Given the description of an element on the screen output the (x, y) to click on. 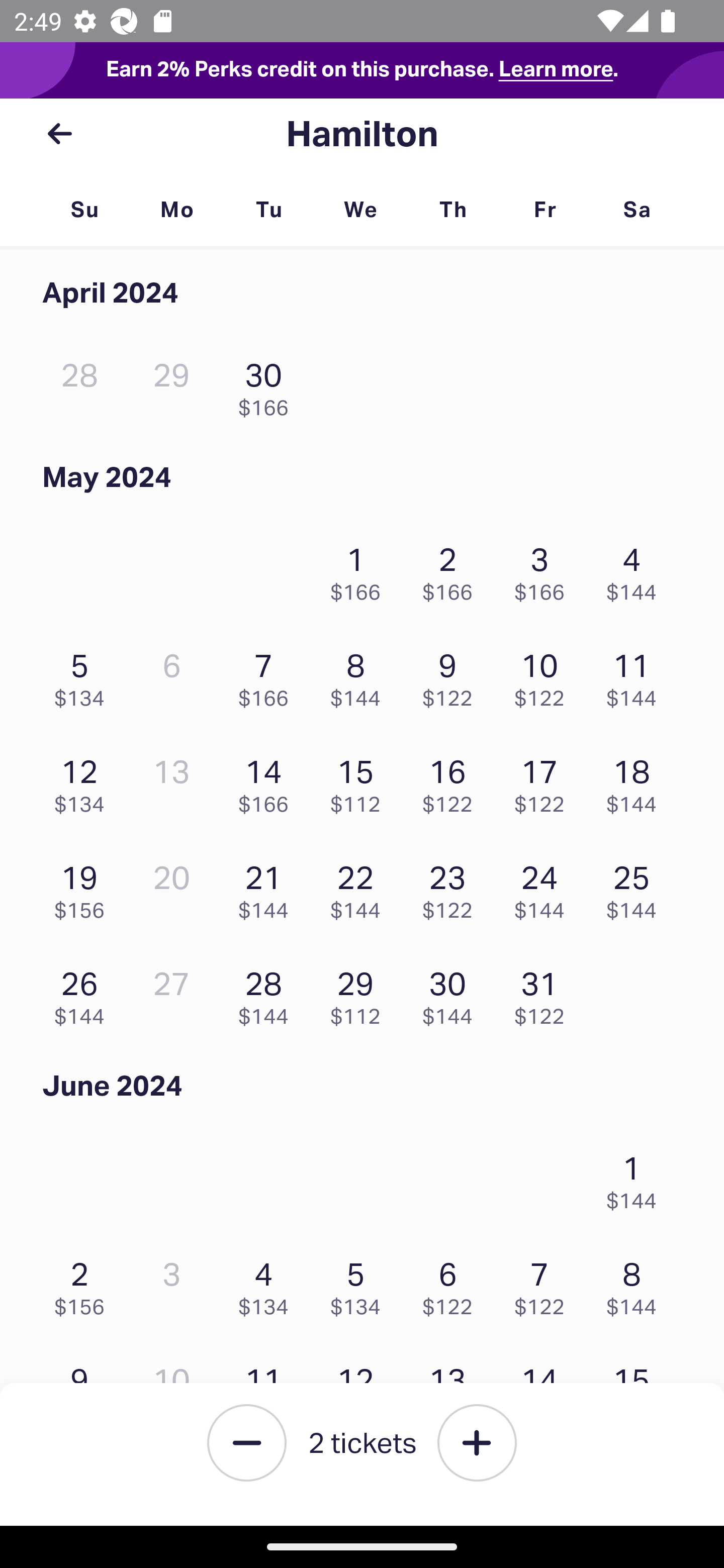
Earn 2% Perks credit on this purchase. Learn more. (362, 70)
back button (59, 133)
30 $166 (268, 384)
1 $166 (360, 569)
2 $166 (452, 569)
3 $166 (544, 569)
4 $144 (636, 569)
5 $134 (84, 674)
7 $166 (268, 674)
8 $144 (360, 674)
9 $122 (452, 674)
10 $122 (544, 674)
11 $144 (636, 674)
12 $134 (84, 781)
14 $166 (268, 781)
15 $112 (360, 781)
16 $122 (452, 781)
17 $122 (544, 781)
18 $144 (636, 781)
19 $156 (84, 886)
21 $144 (268, 886)
22 $144 (360, 886)
23 $122 (452, 886)
24 $144 (544, 886)
25 $144 (636, 886)
26 $144 (84, 992)
28 $144 (268, 992)
29 $112 (360, 992)
30 $144 (452, 992)
31 $122 (544, 992)
1 $144 (636, 1177)
2 $156 (84, 1283)
4 $134 (268, 1283)
5 $134 (360, 1283)
6 $122 (452, 1283)
7 $122 (544, 1283)
8 $144 (636, 1283)
